Given the description of an element on the screen output the (x, y) to click on. 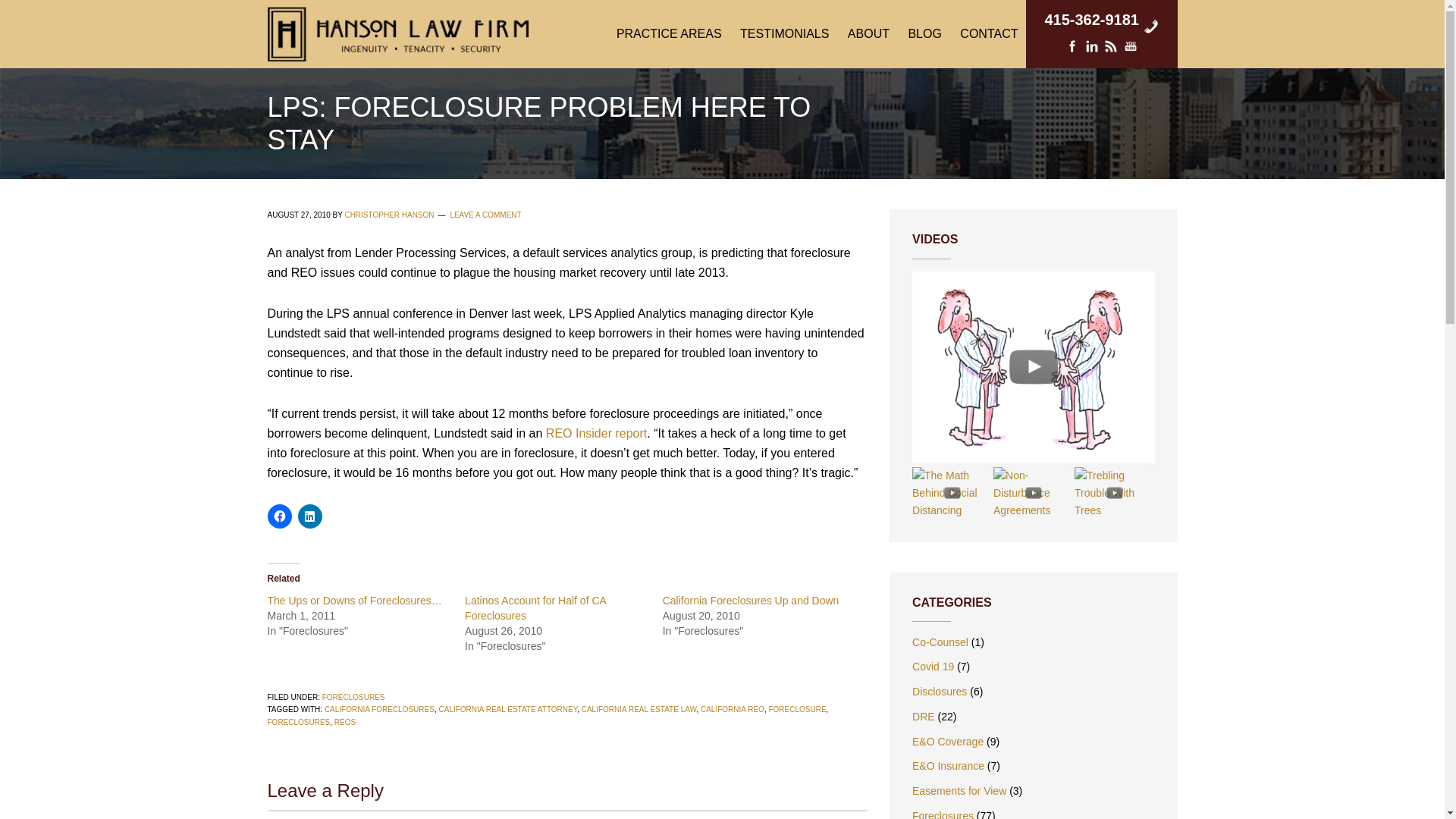
Comment Form (566, 814)
Latinos Account for Half of CA Foreclosures (534, 607)
Click to share on Facebook (278, 516)
CONTACT (988, 33)
Click to share on LinkedIn (309, 516)
PRACTICE AREAS (668, 33)
415-362-9181 (1090, 13)
TESTIMONIALS (783, 33)
California Foreclosures Up and Down (751, 600)
